Given the description of an element on the screen output the (x, y) to click on. 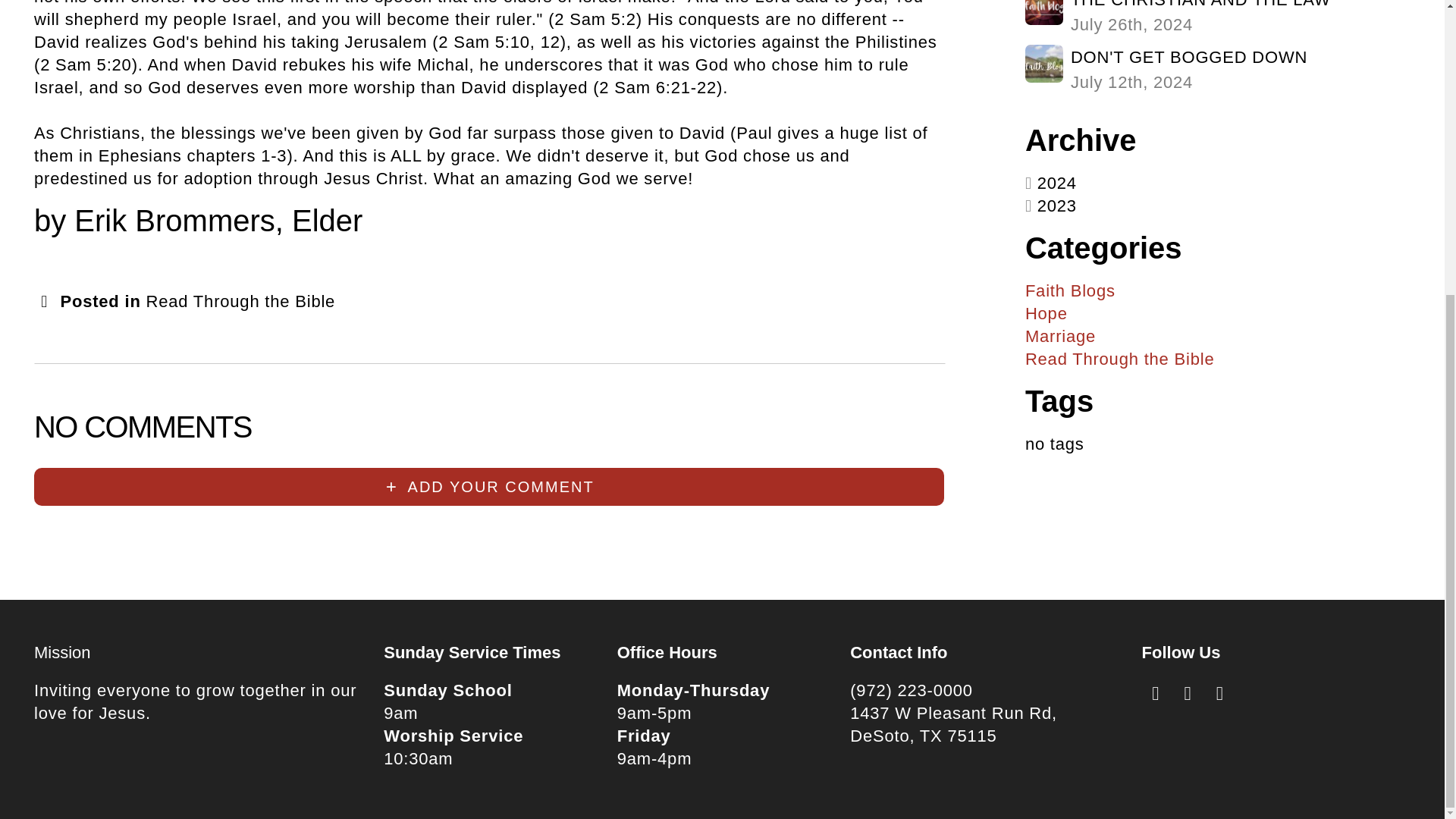
Read Through the Bible (241, 301)
ADD YOUR COMMENT (1217, 18)
